Given the description of an element on the screen output the (x, y) to click on. 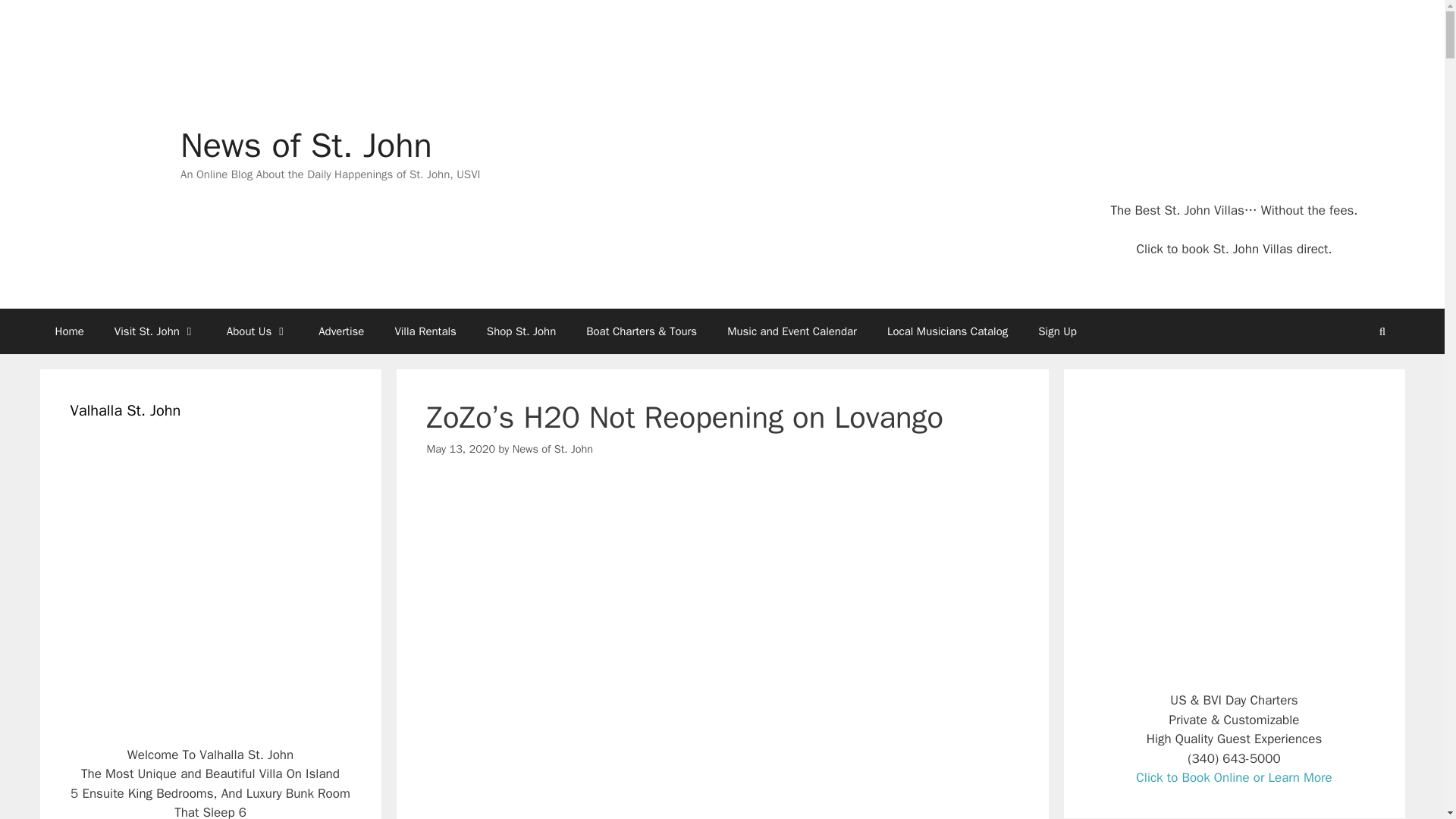
News of St. John (552, 448)
Search (1382, 330)
News of St. John (306, 145)
9:52 pm (460, 448)
Sign Up (1057, 330)
About Us (256, 330)
Click to book St. John Villas direct. (1233, 248)
News of St. John (99, 153)
Shop St. John (520, 330)
Villa Rentals (424, 330)
Advertise (340, 330)
May 13, 2020 (460, 448)
Home (69, 330)
Visit St. John (155, 330)
Music and Event Calendar (791, 330)
